Given the description of an element on the screen output the (x, y) to click on. 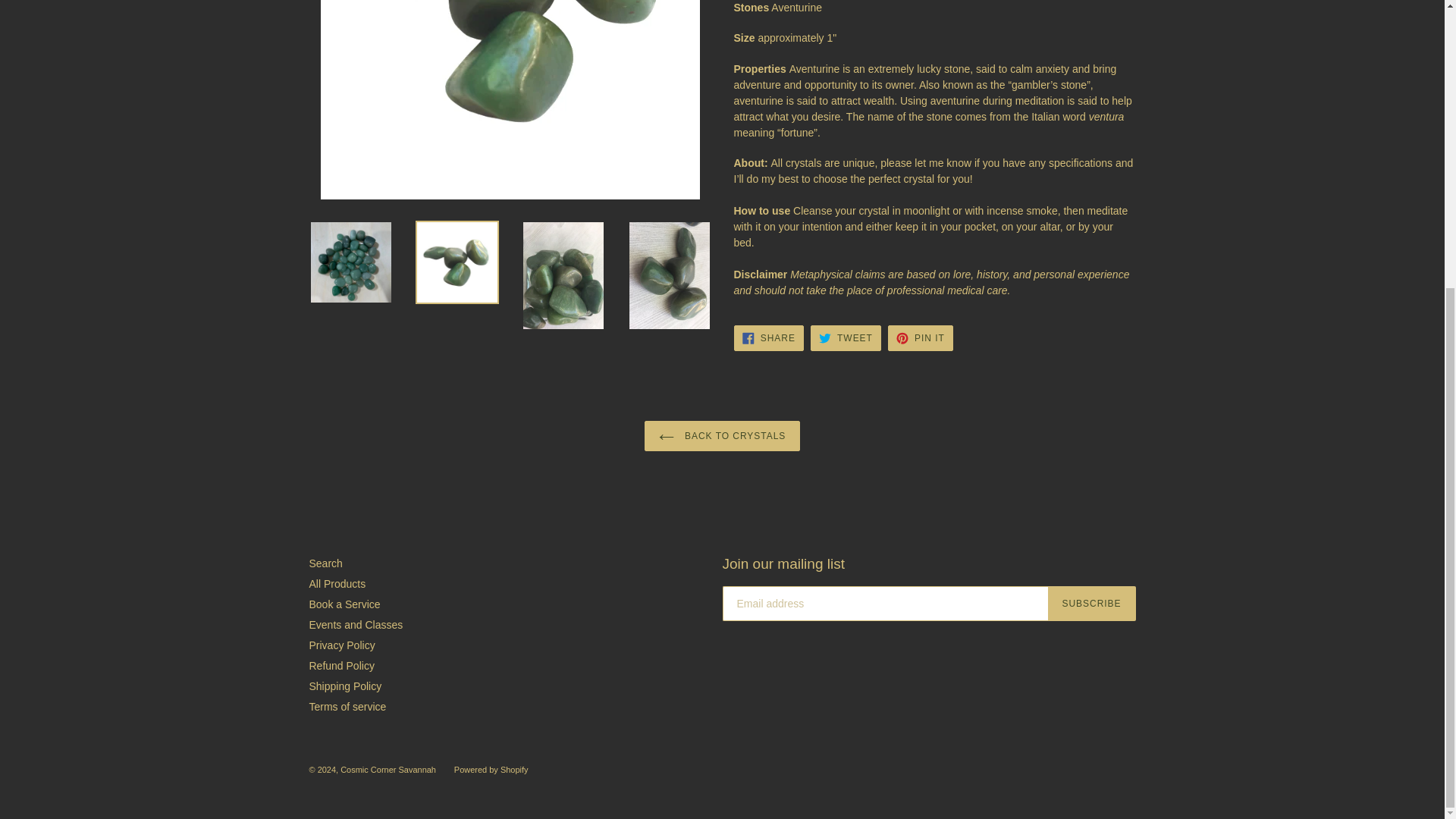
Pin on Pinterest (920, 338)
Tweet on Twitter (845, 338)
Share on Facebook (768, 338)
